Given the description of an element on the screen output the (x, y) to click on. 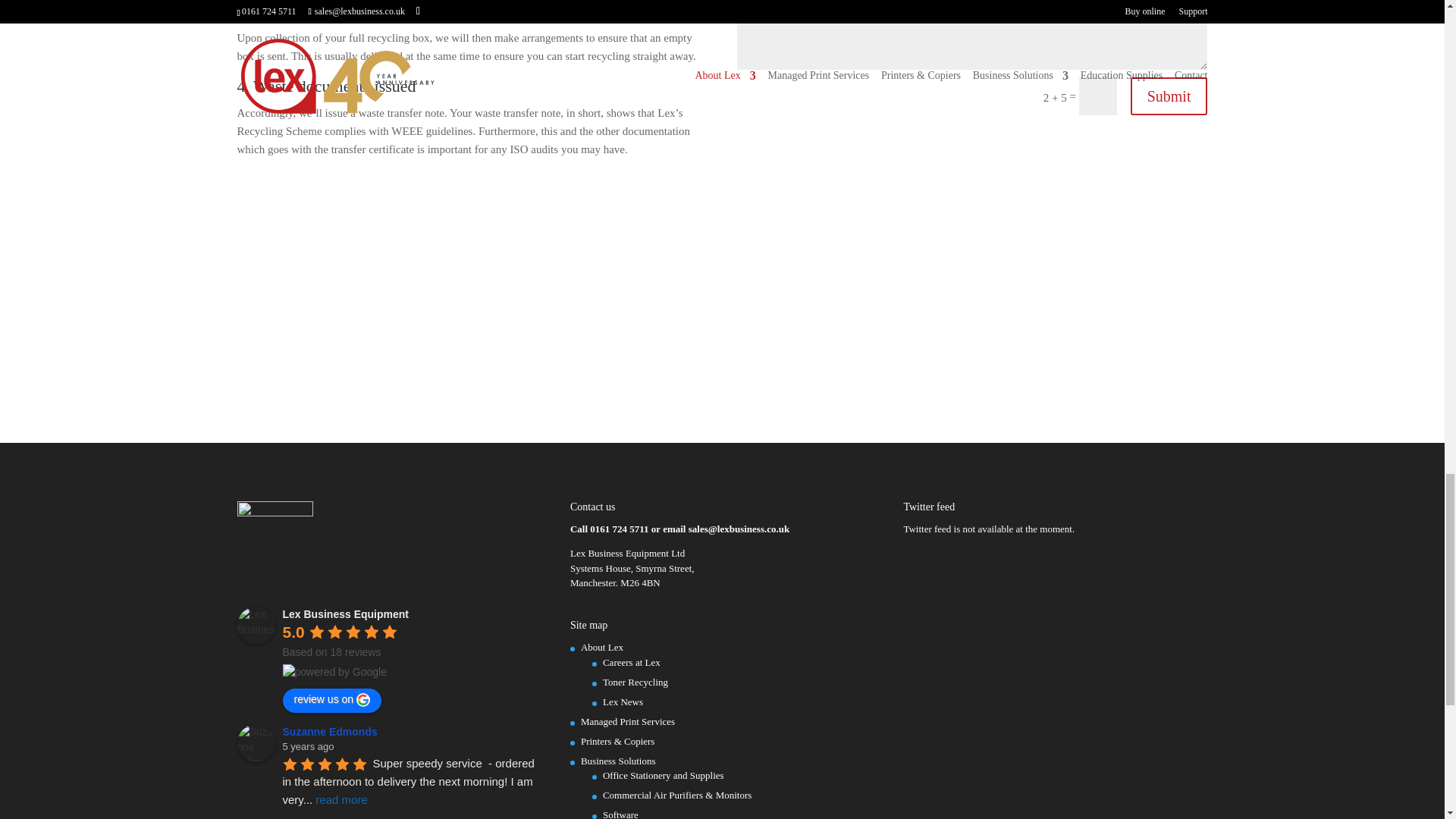
review us on (331, 700)
powered by Google (333, 671)
Submit (1169, 95)
Toner Recycling (635, 681)
About Lex (601, 646)
Suzanne Edmonds (331, 731)
Lex Business Equipment (344, 613)
Lex News (622, 701)
Managed Print Services (627, 721)
Careers at Lex (631, 662)
0161 724 5711 (618, 528)
Lex Business Equipment (255, 625)
Suzanne Edmonds (255, 742)
